Given the description of an element on the screen output the (x, y) to click on. 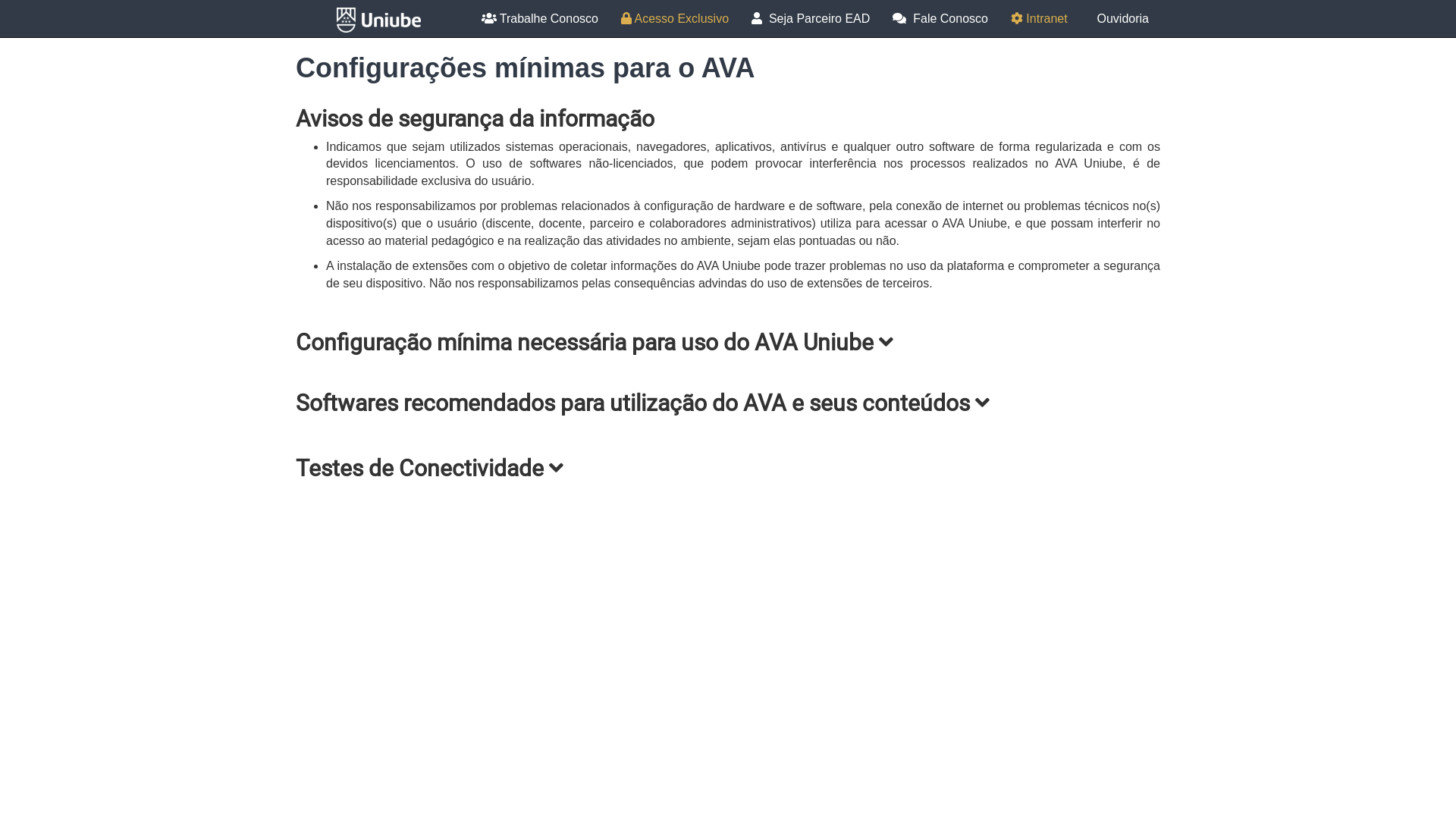
 Trabalhe Conosco Element type: text (539, 18)
Testes de Conectividade Element type: text (727, 467)
 Intranet Element type: text (1039, 18)
  Seja Parceiro EAD Element type: text (810, 18)
 Acesso Exclusivo Element type: text (674, 18)
  Ouvidoria Element type: text (1119, 18)
  Fale Conosco Element type: text (940, 18)
